Given the description of an element on the screen output the (x, y) to click on. 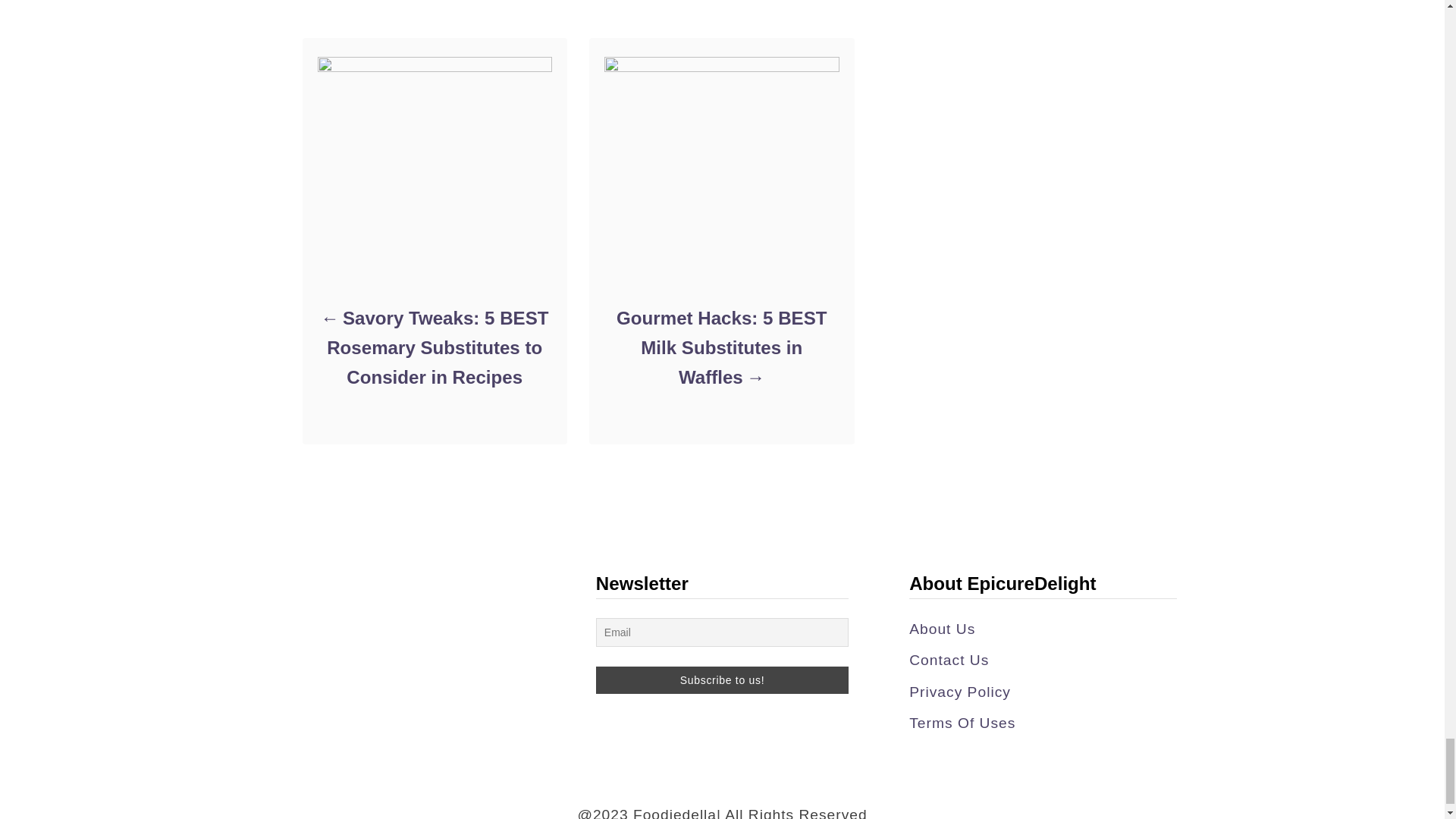
Subscribe to us! (721, 679)
